Given the description of an element on the screen output the (x, y) to click on. 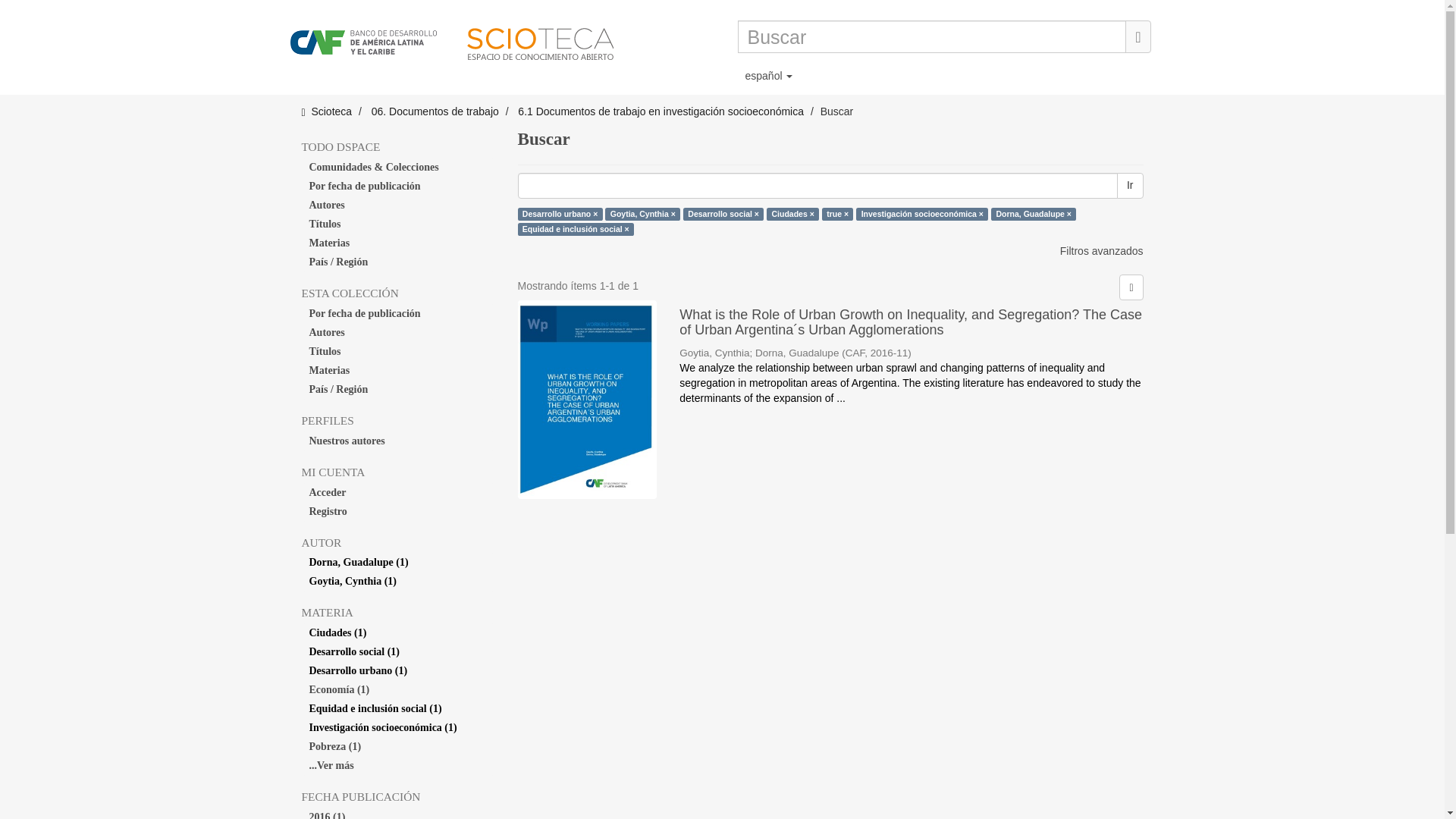
Acceder (398, 492)
Materias (398, 370)
Ir (1129, 185)
06. Documentos de trabajo (435, 111)
Autores (398, 205)
Registro (398, 511)
Materias (398, 243)
Scioteca (331, 111)
Nuestros autores (398, 441)
Autores (398, 332)
